Given the description of an element on the screen output the (x, y) to click on. 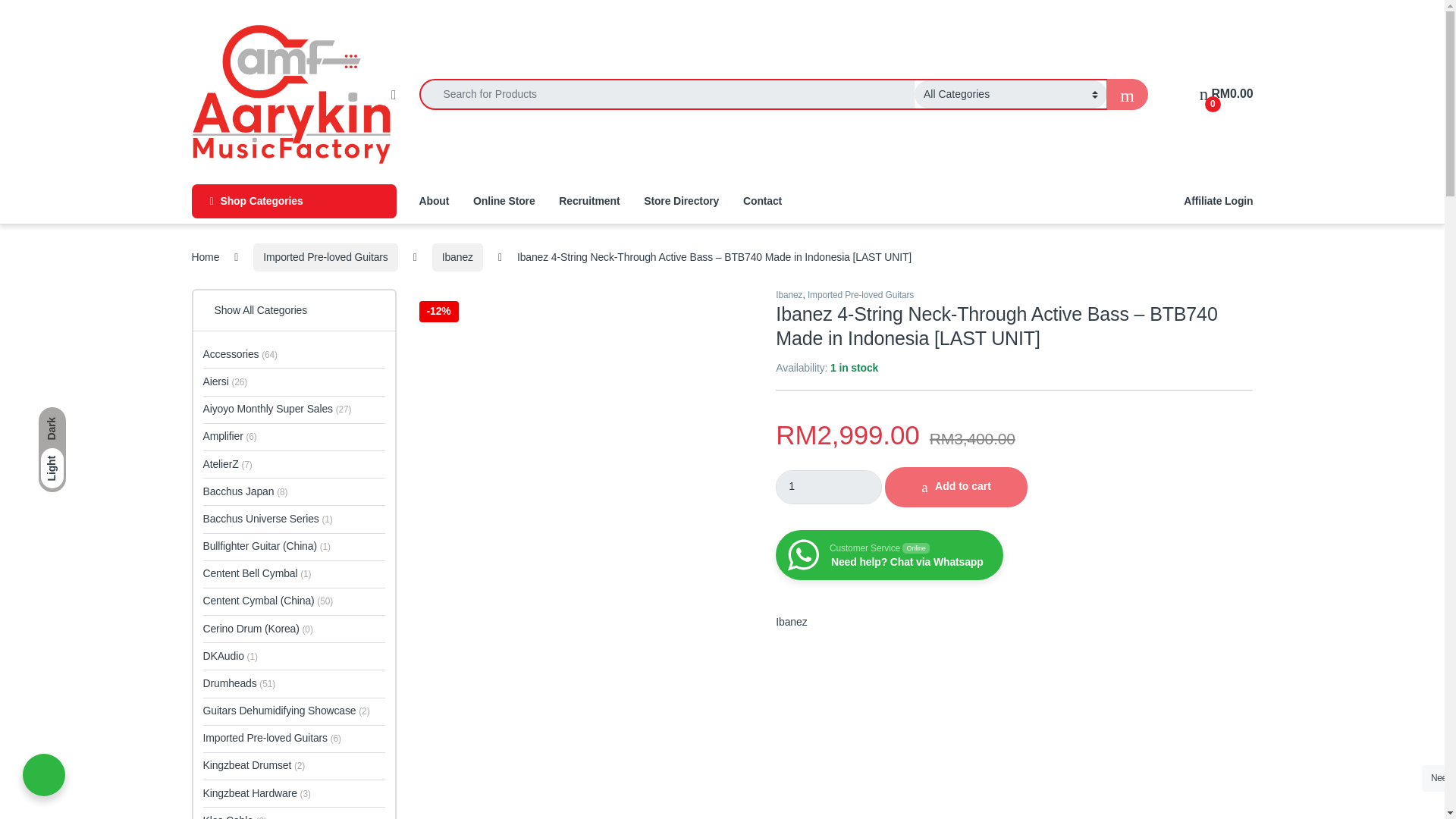
1 (829, 487)
